Given the description of an element on the screen output the (x, y) to click on. 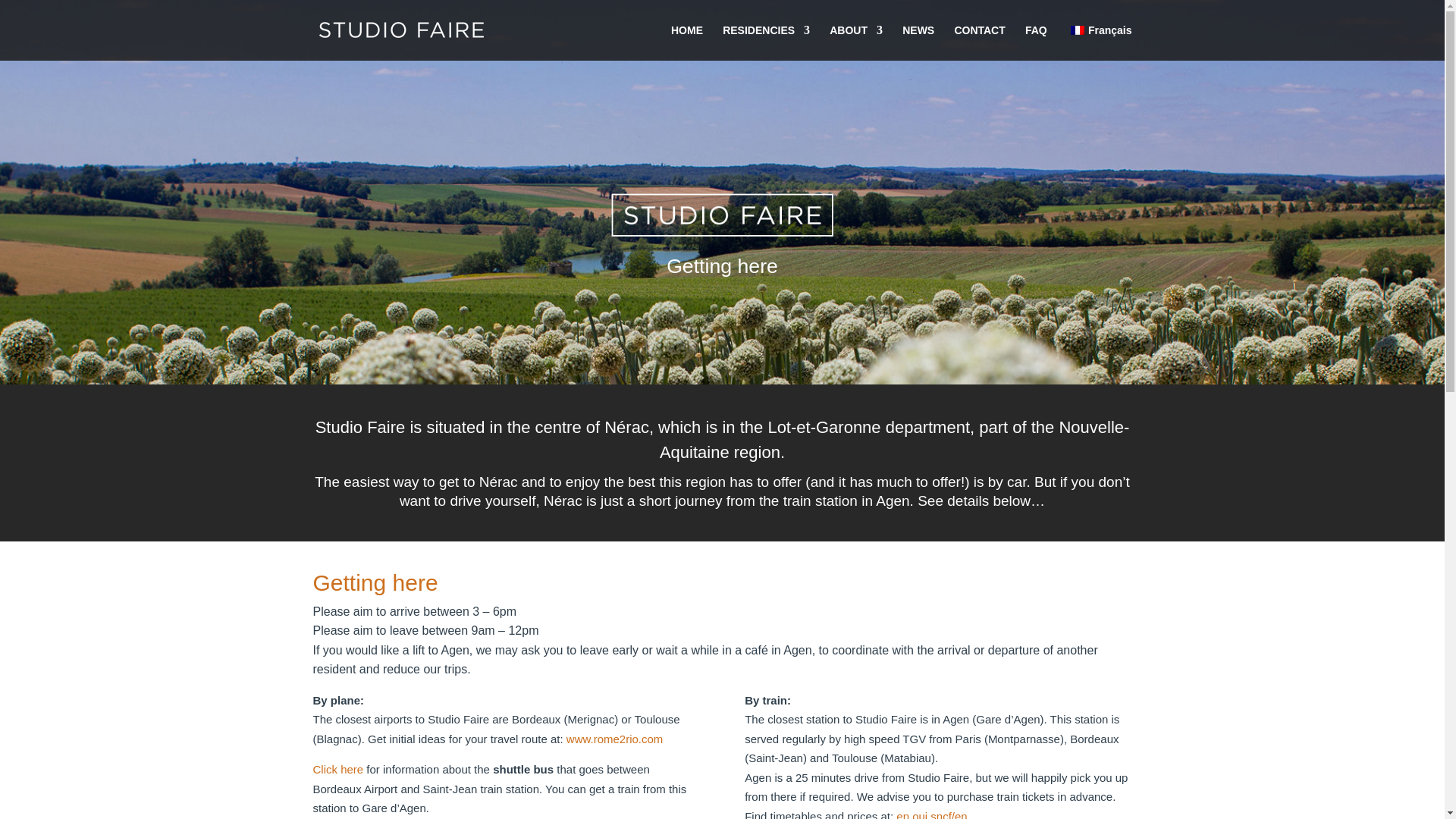
HOME (687, 42)
RESIDENCIES (765, 42)
ABOUT (855, 42)
NEWS (918, 42)
www.rome2rio.com (614, 738)
FAQ (1035, 42)
CONTACT (978, 42)
